Given the description of an element on the screen output the (x, y) to click on. 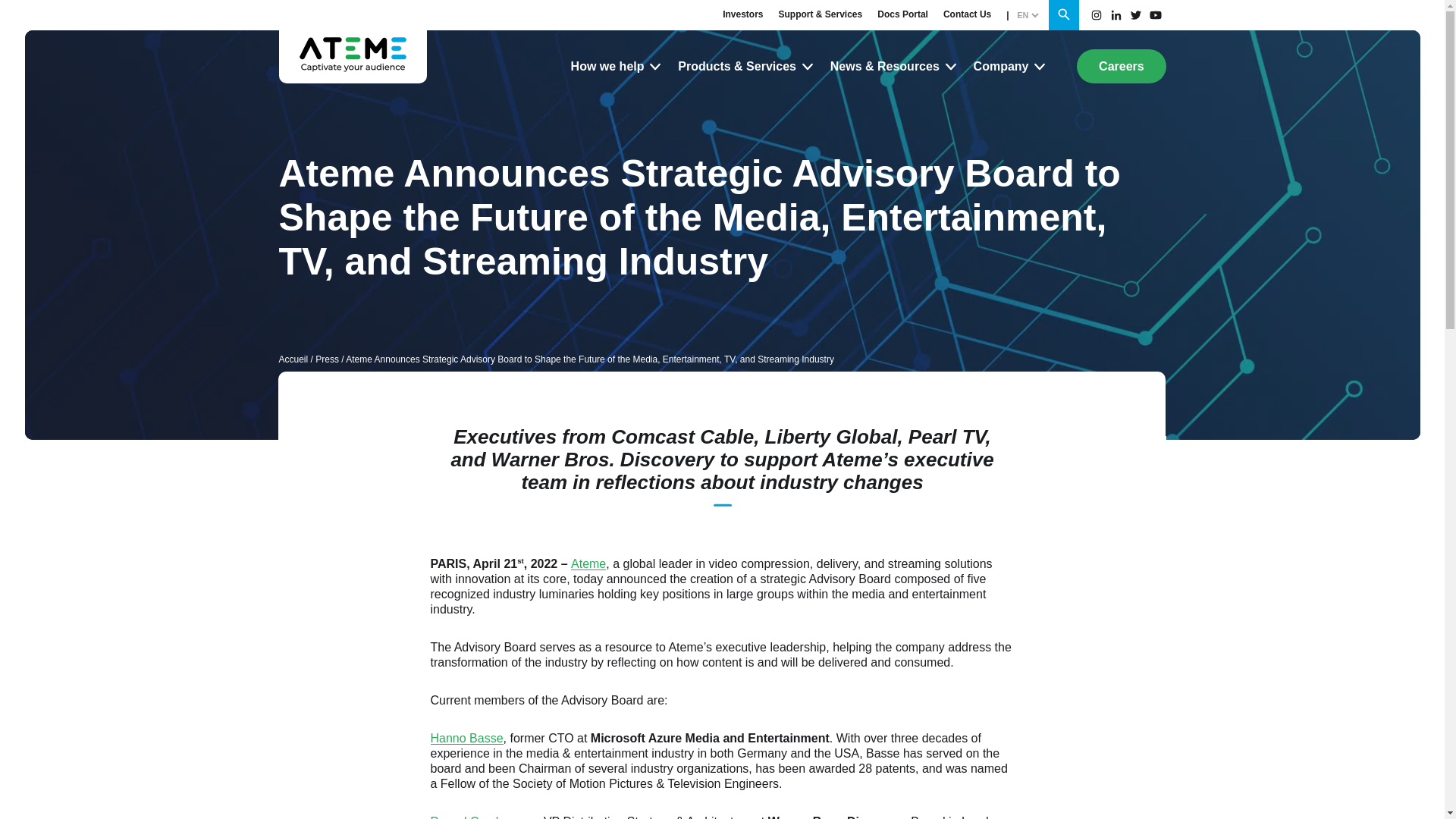
Contact Us (967, 14)
Company (1010, 66)
Docs Portal (902, 14)
How we help (616, 66)
Investors (742, 14)
Go to the search form (1063, 15)
